Given the description of an element on the screen output the (x, y) to click on. 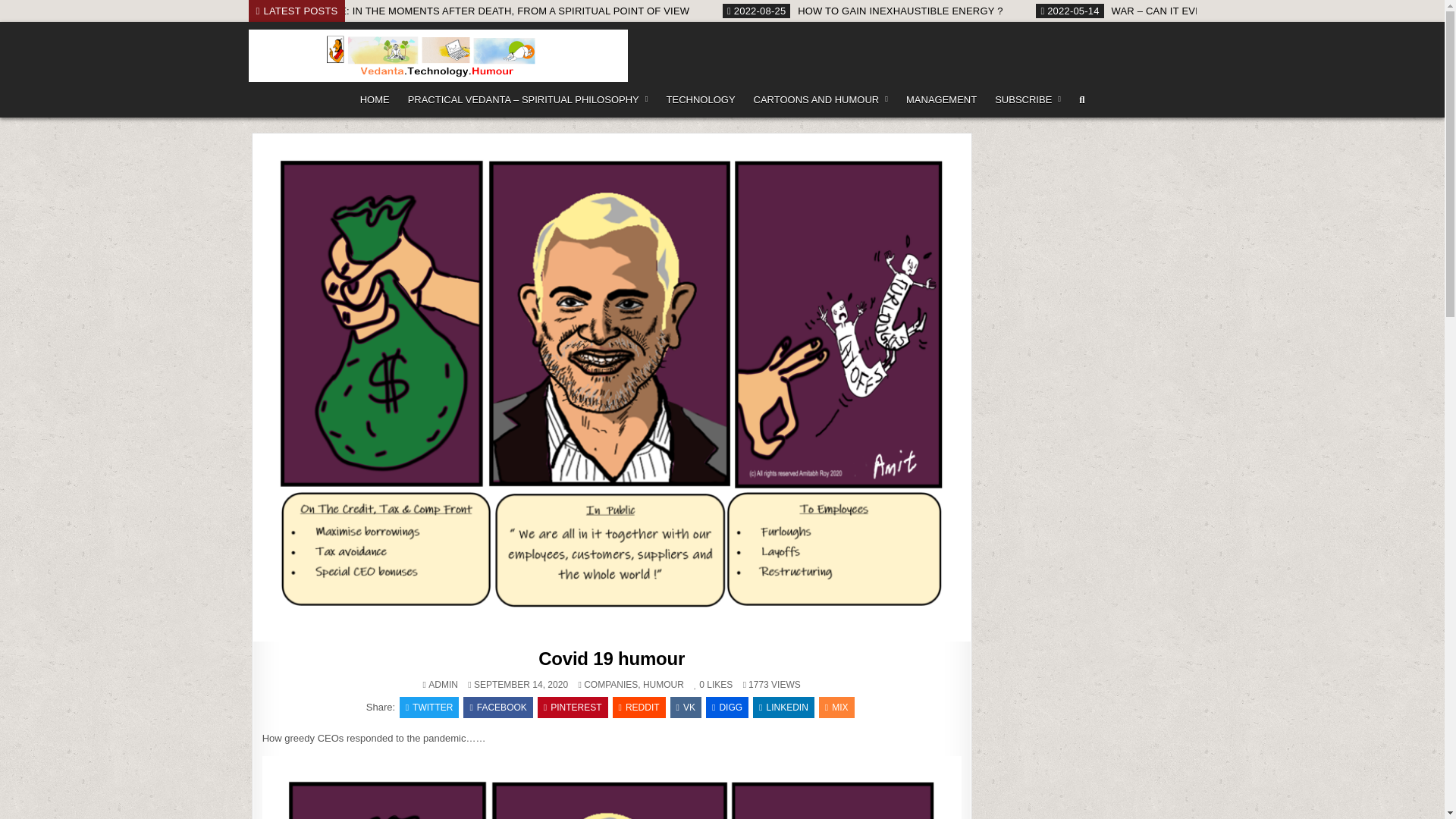
HOME (374, 99)
SUBSCRIBE (1027, 99)
PINTEREST (572, 707)
ADMIN (443, 684)
 2022-08-25 HOW TO GAIN INEXHAUSTIBLE ENERGY ? (1023, 10)
HUMOUR (663, 684)
VK (685, 707)
REDDIT (638, 707)
